Given the description of an element on the screen output the (x, y) to click on. 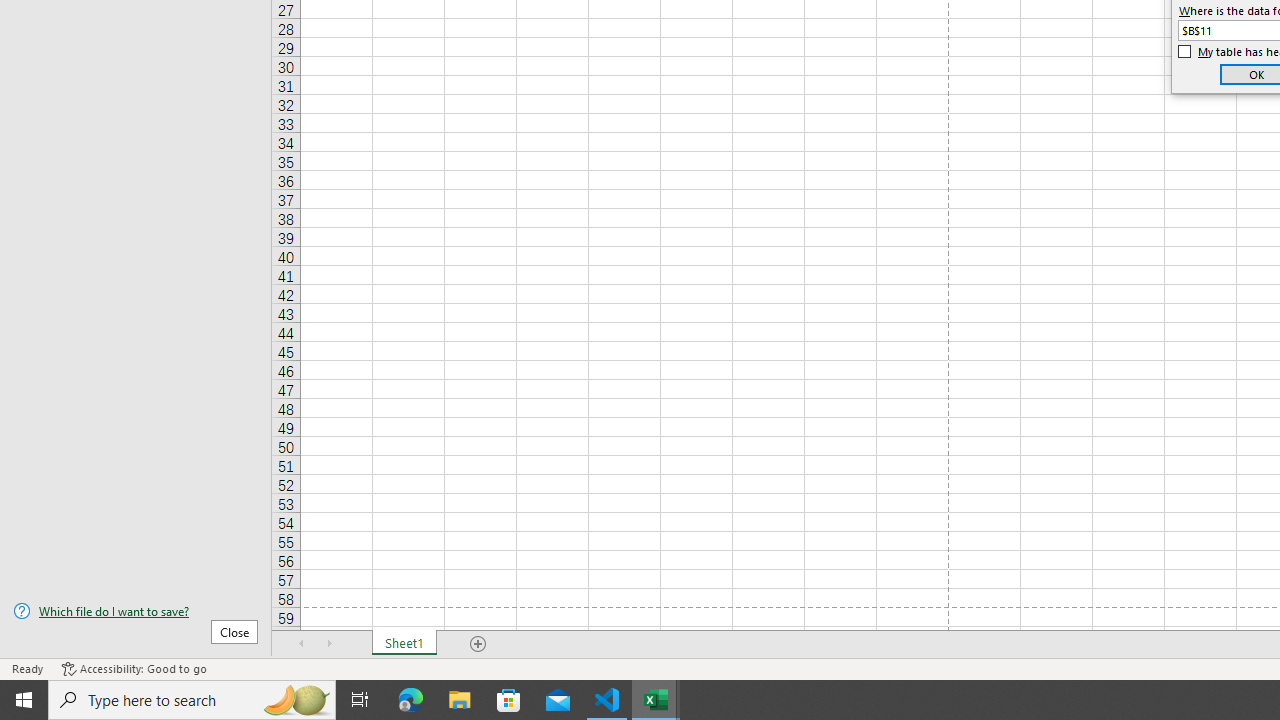
Add Sheet (478, 644)
Scroll Right (330, 644)
Scroll Left (302, 644)
Close (234, 631)
Which file do I want to save? (136, 611)
Sheet1 (404, 644)
Accessibility Checker Accessibility: Good to go (134, 668)
